Given the description of an element on the screen output the (x, y) to click on. 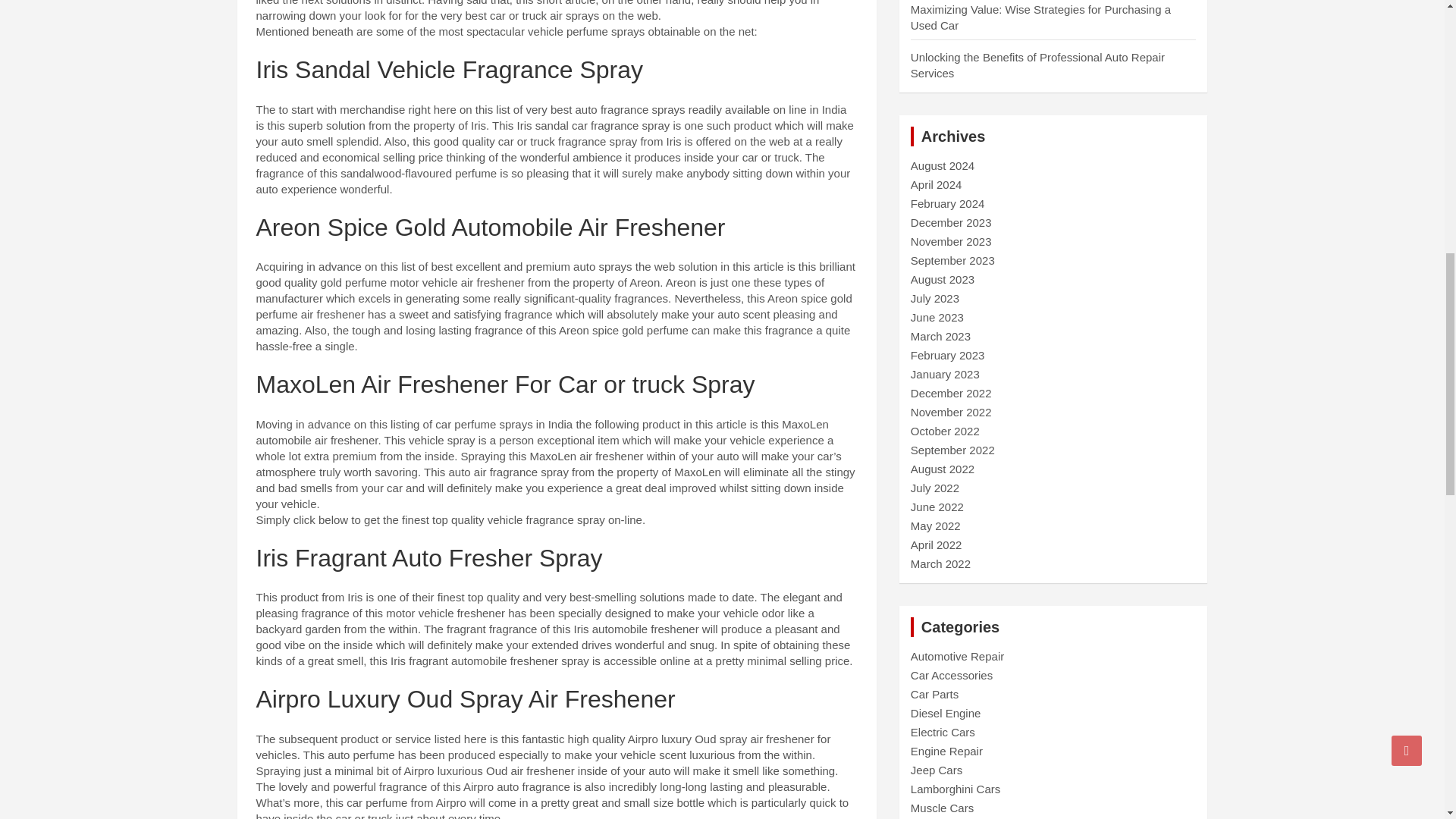
November 2023 (951, 241)
February 2024 (948, 203)
December 2023 (951, 222)
Maximizing Value: Wise Strategies for Purchasing a Used Car (1040, 17)
April 2024 (936, 184)
Unlocking the Benefits of Professional Auto Repair Services (1037, 64)
August 2024 (942, 164)
